Given the description of an element on the screen output the (x, y) to click on. 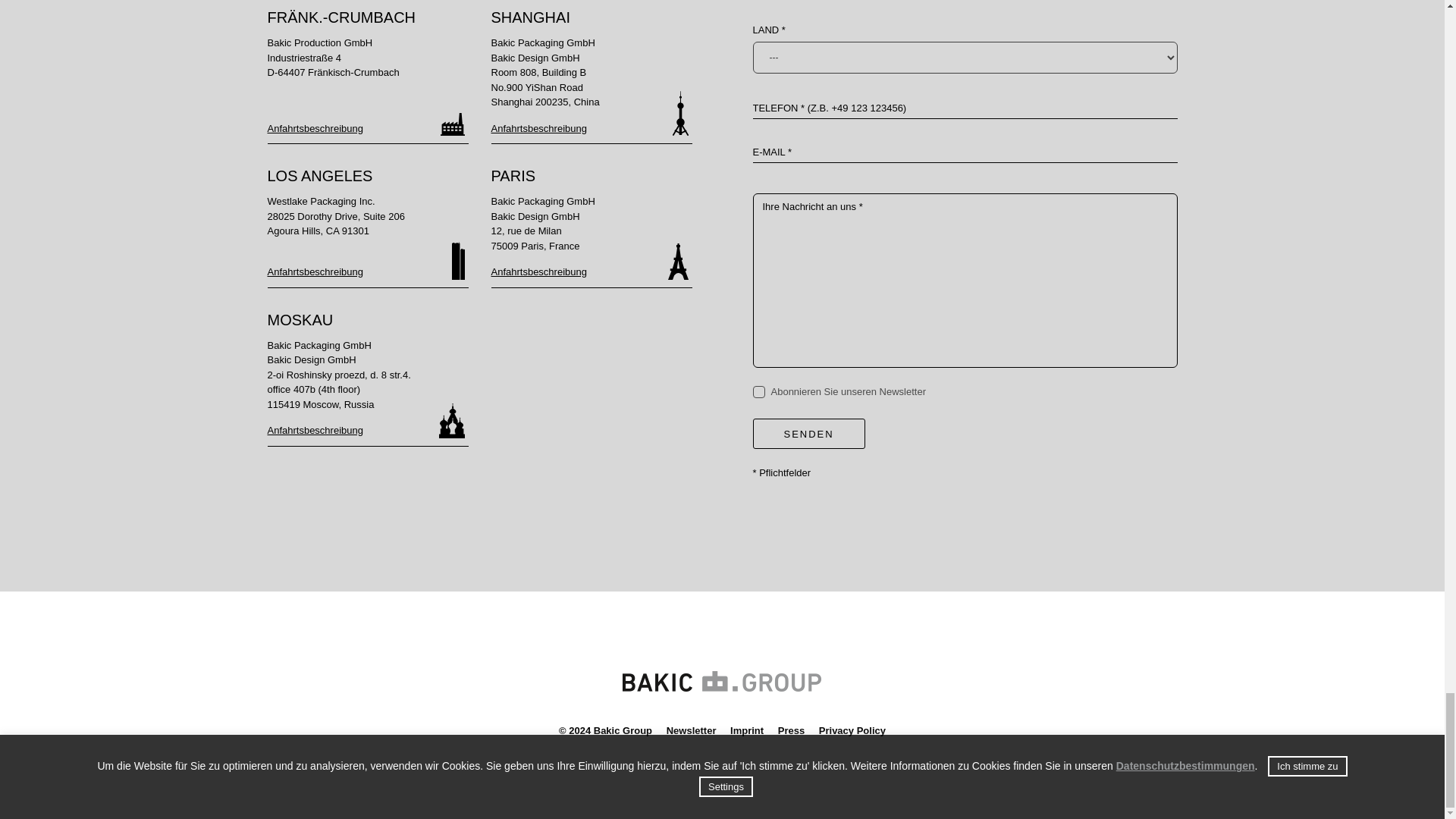
SENDEN (808, 433)
